Given the description of an element on the screen output the (x, y) to click on. 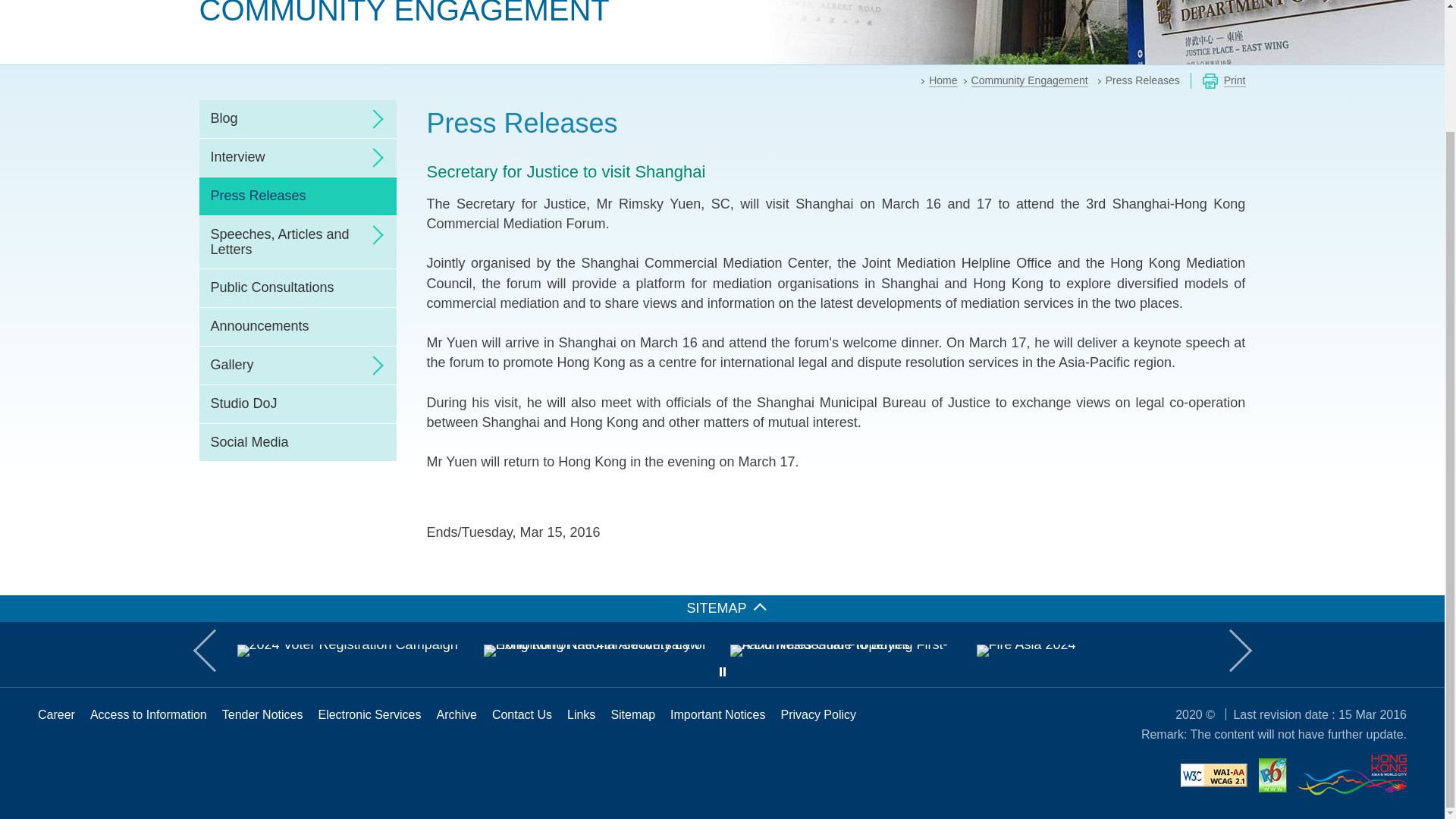
Blog (297, 118)
Interview (297, 157)
Speeches, Articles and Letters (297, 242)
Press Releases (297, 196)
